Given the description of an element on the screen output the (x, y) to click on. 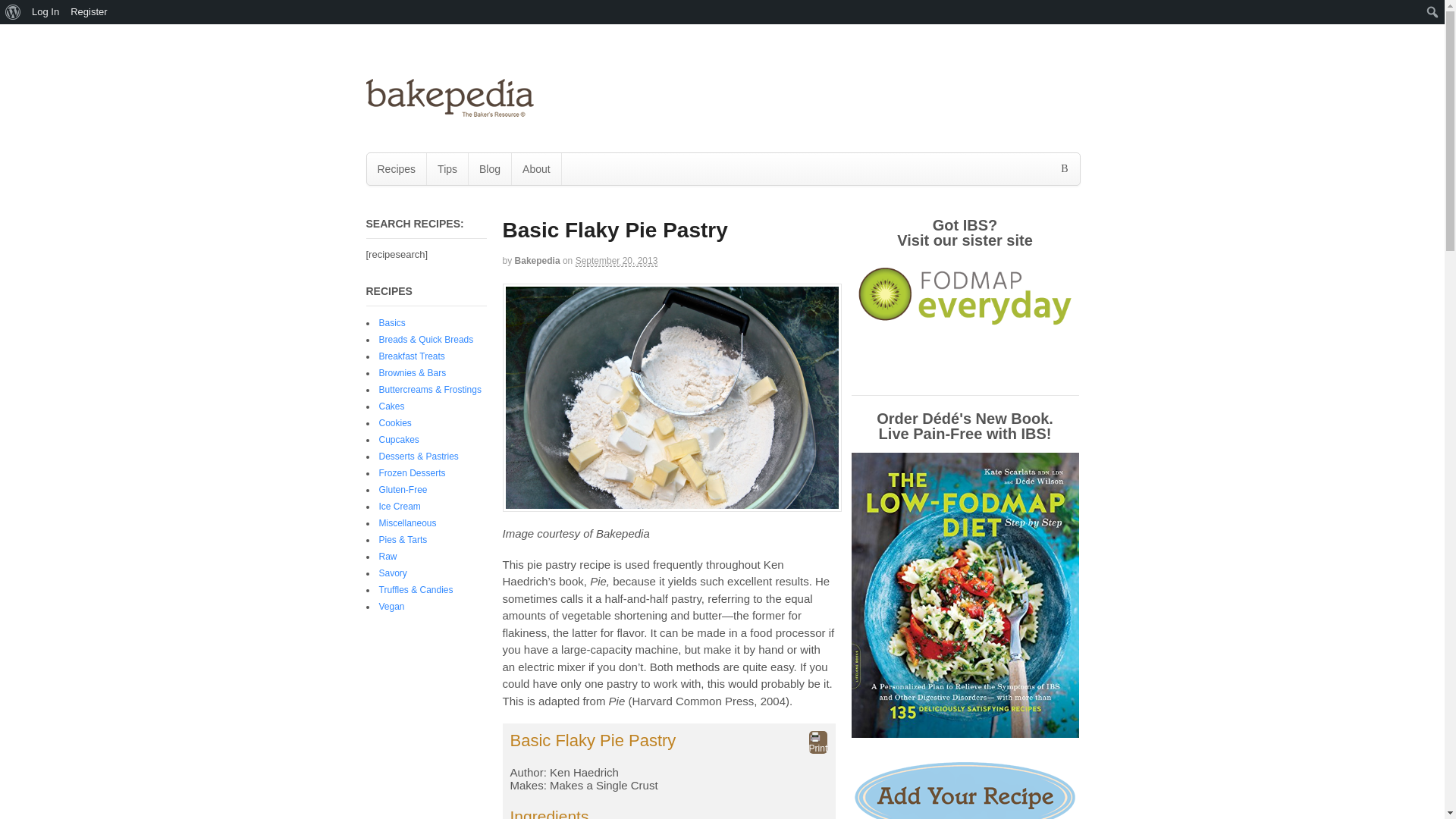
Cakes (391, 406)
making basic flaky pie crust (672, 397)
2013-09-20T08:00:24-0400 (616, 260)
Blog (489, 169)
Frozen Desserts (411, 472)
Posts by Bakepedia (537, 260)
The Baker's Resource (448, 110)
Basics (392, 322)
Tips (446, 169)
Recipes (396, 169)
